Given the description of an element on the screen output the (x, y) to click on. 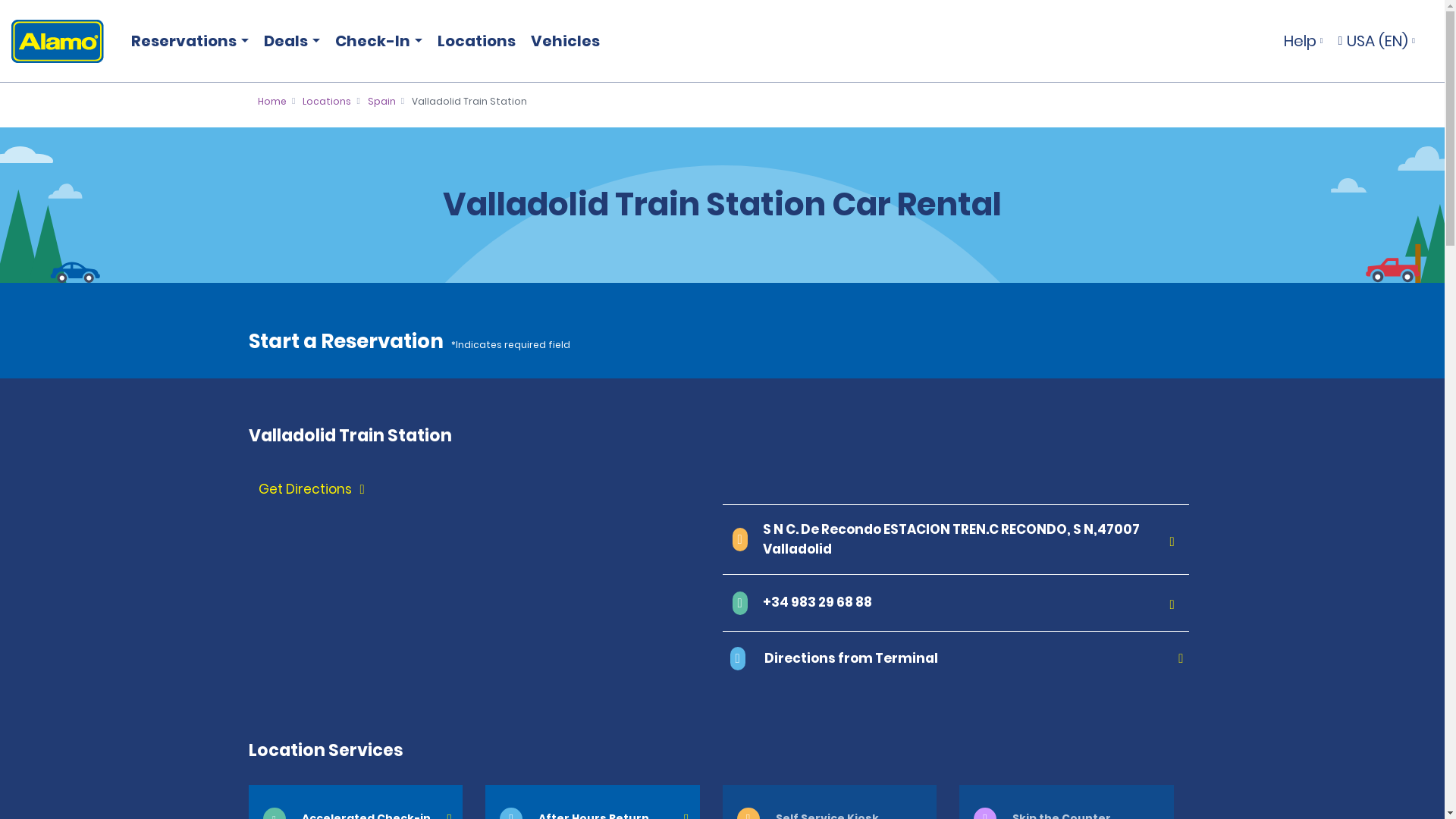
Self Service Kiosk (829, 801)
Vehicles (564, 40)
Reservations (185, 40)
After Hours Return (592, 801)
Locations (326, 101)
Deals (288, 40)
Get Directions (489, 489)
Spain (382, 101)
Check-In (374, 40)
Home (271, 101)
Skip the Counter (1066, 801)
Accelerated Check-in (355, 801)
Locations (475, 40)
Help (1303, 40)
